Given the description of an element on the screen output the (x, y) to click on. 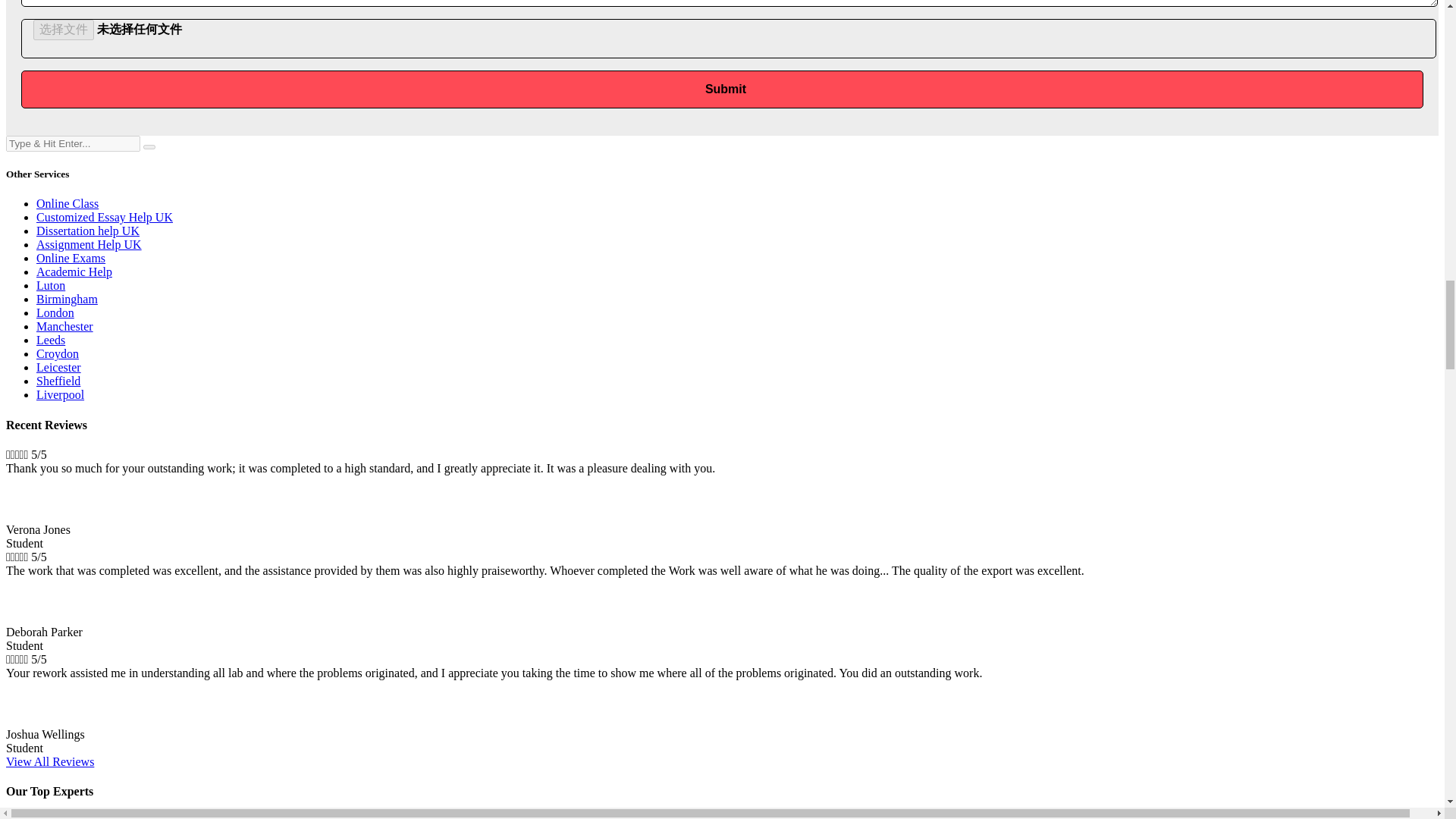
Search (72, 143)
Submit (722, 89)
